Given the description of an element on the screen output the (x, y) to click on. 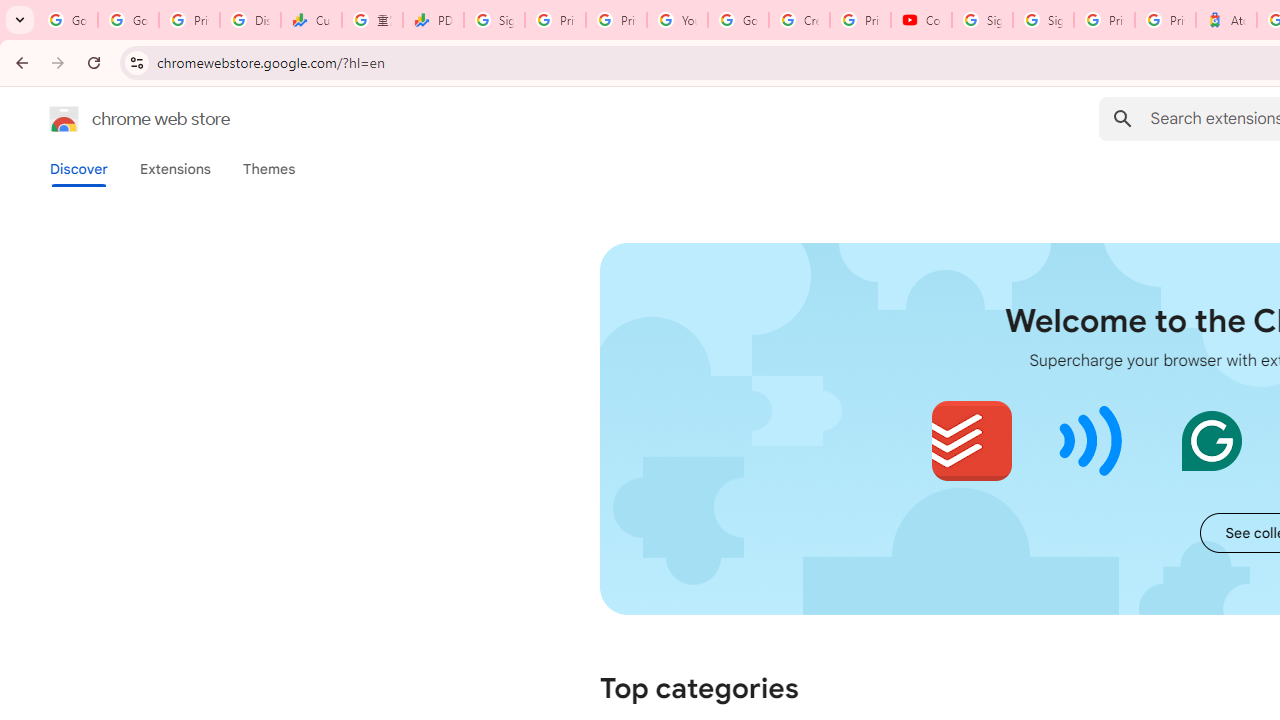
Create your Google Account (799, 20)
PDD Holdings Inc - ADR (PDD) Price & News - Google Finance (433, 20)
Grammarly: AI Writing and Grammar Checker App (1211, 440)
Google Workspace Admin Community (67, 20)
Privacy Checkup (616, 20)
